Given the description of an element on the screen output the (x, y) to click on. 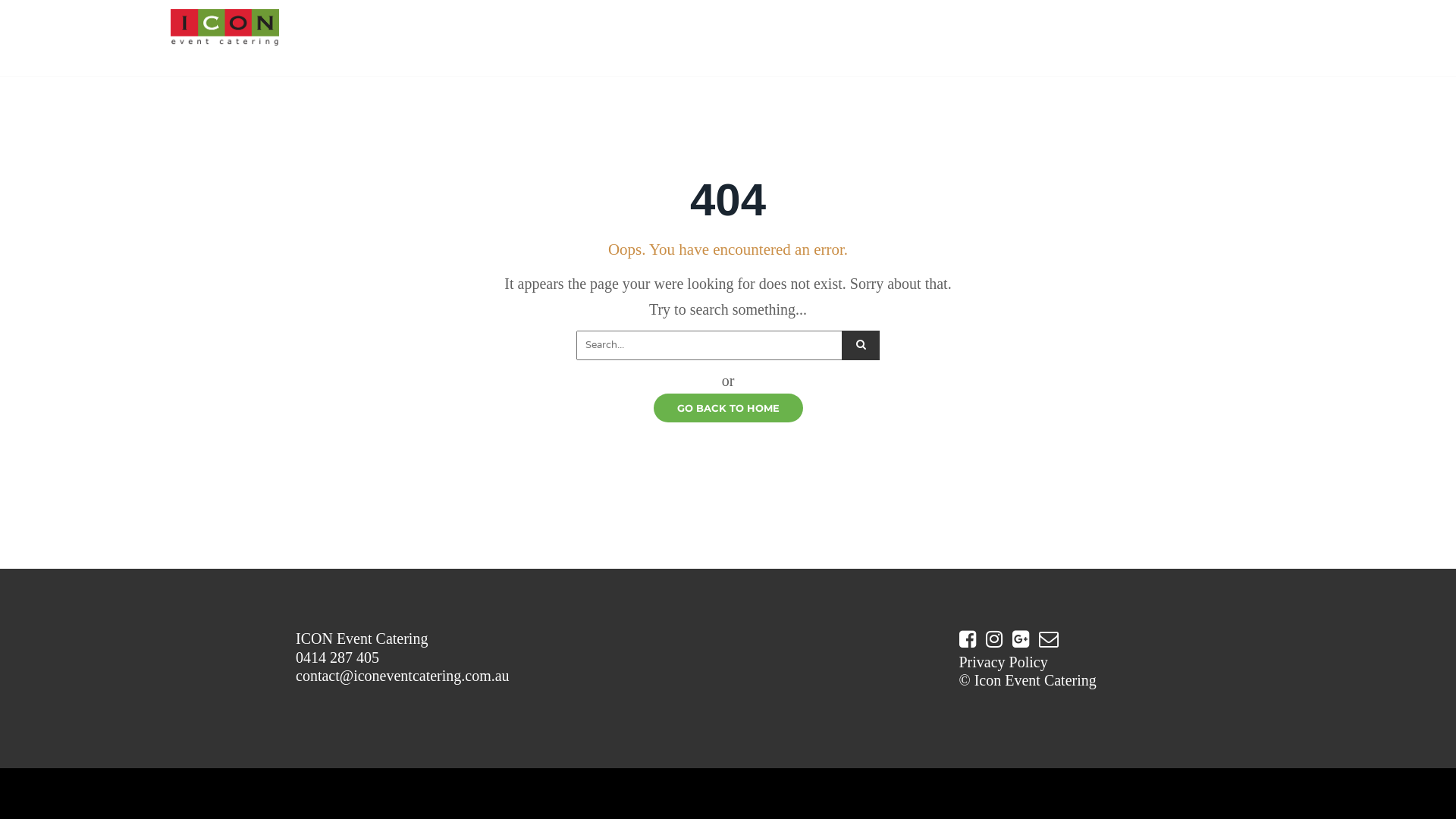
GRAZING
BOARDS Element type: text (633, 37)
VENUES Element type: text (698, 28)
WOOD FIRE
SPIT ROAST Element type: text (497, 37)
ABOUT US Element type: text (768, 28)
G+ Element type: hover (977, 714)
CONTACT Element type: text (832, 28)
Privacy Policy Element type: text (1002, 661)
PREMIUM
PAELLA Element type: text (568, 37)
GO BACK TO HOME Element type: text (728, 407)
contact@iconeventcatering.com.au Element type: text (402, 675)
0414 287 405 Element type: text (337, 657)
HOME Element type: text (429, 28)
